Given the description of an element on the screen output the (x, y) to click on. 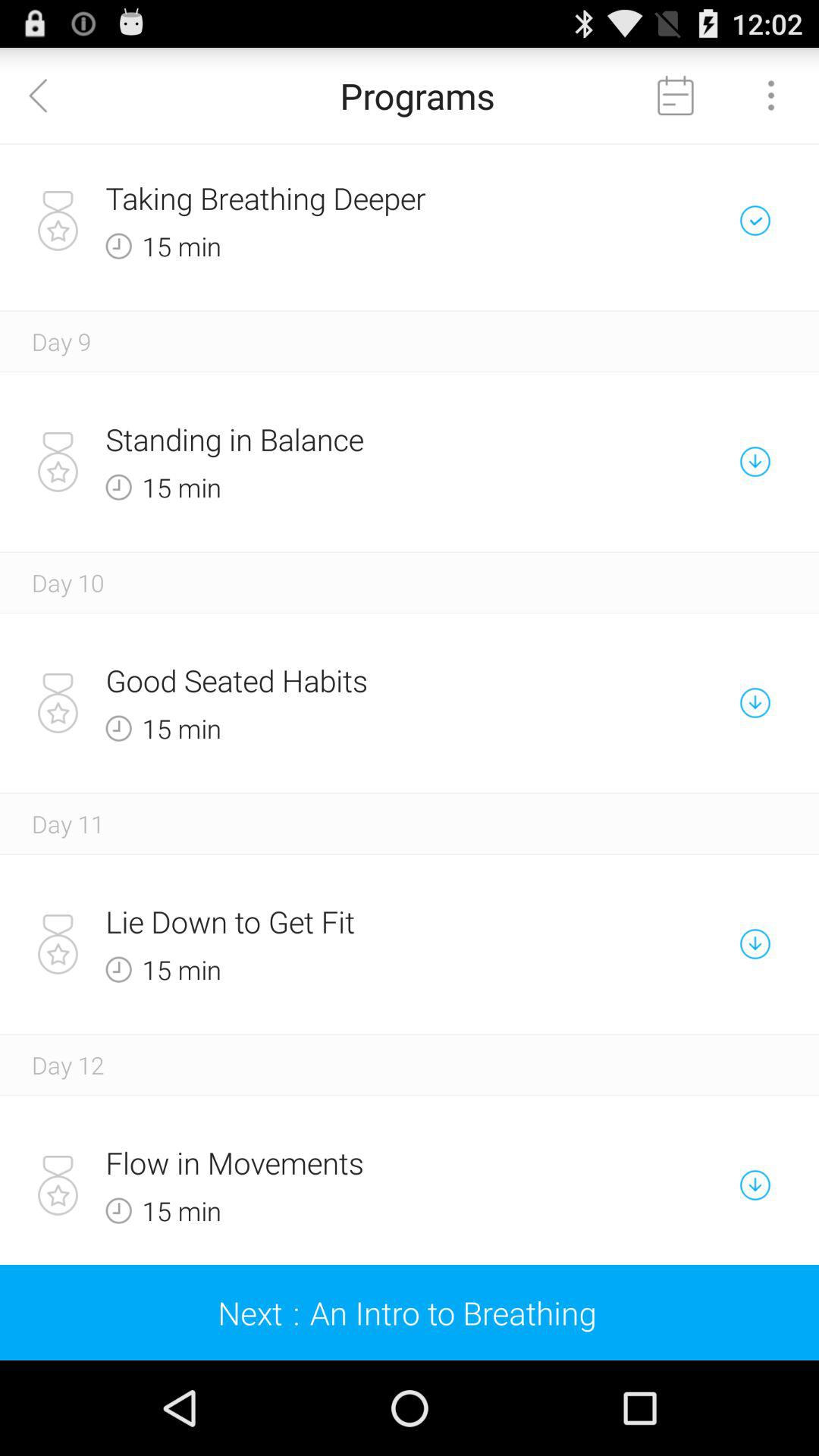
go back option (47, 95)
